Given the description of an element on the screen output the (x, y) to click on. 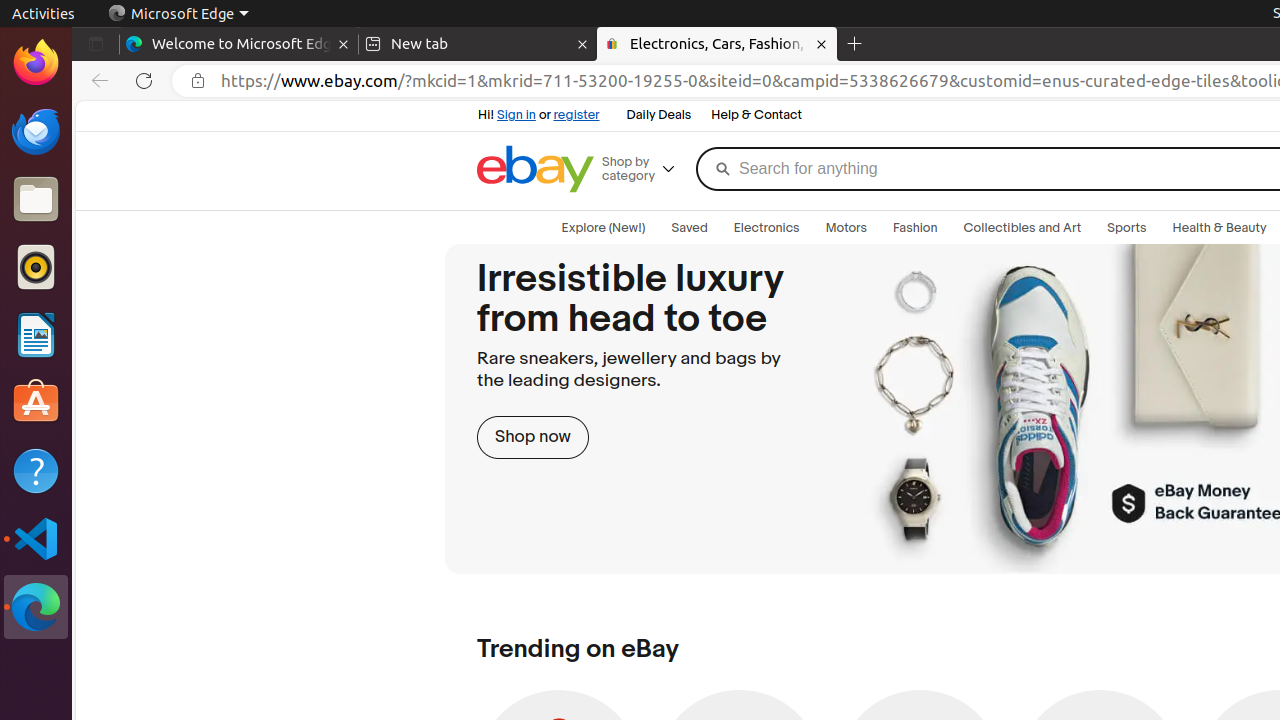
Refresh Element type: push-button (144, 81)
Shop by category Element type: push-button (646, 169)
Visual Studio Code Element type: push-button (36, 538)
Saved Element type: link (689, 228)
Explore (New!) Element type: link (603, 228)
